Given the description of an element on the screen output the (x, y) to click on. 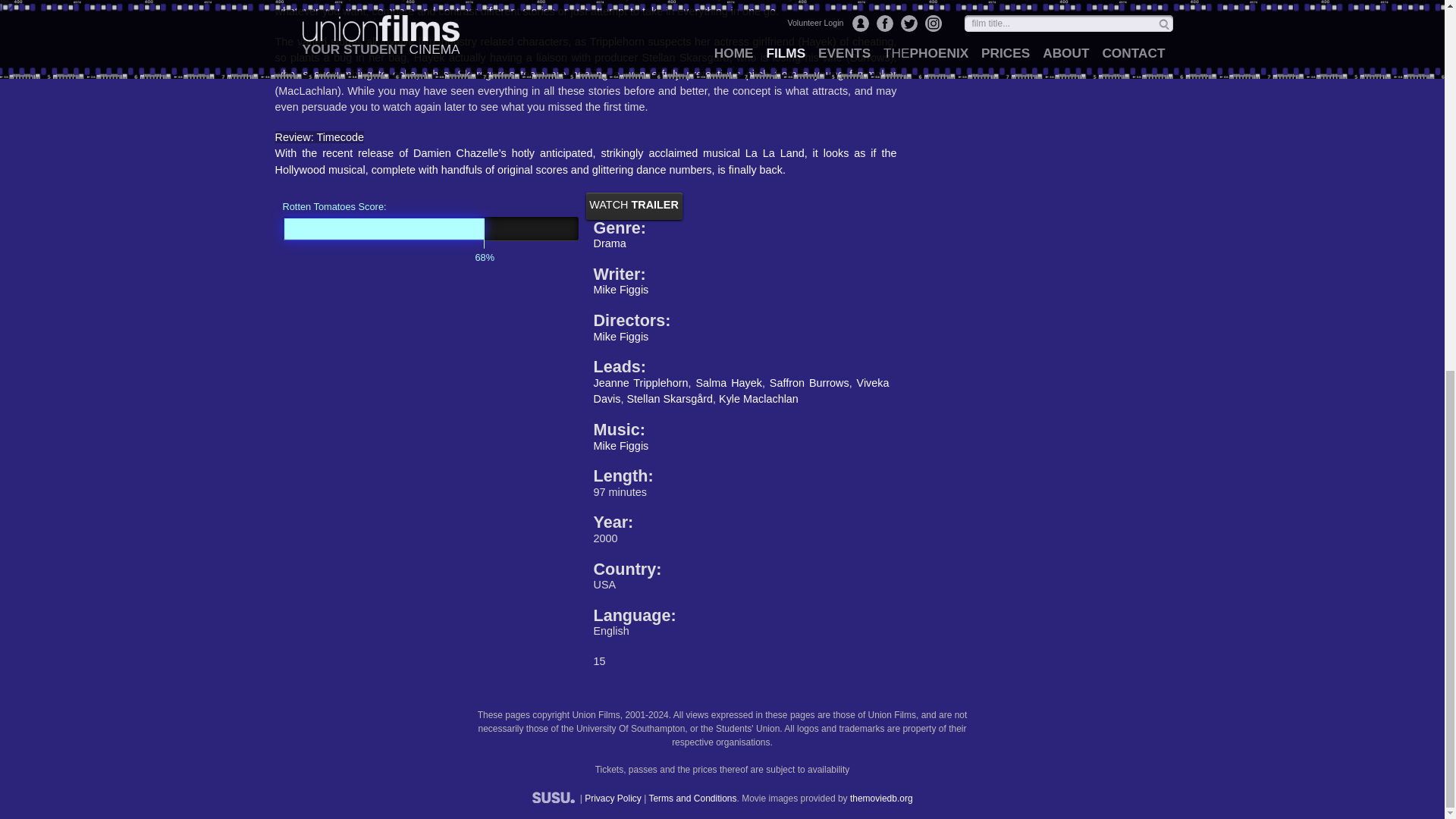
Salma Hayek (728, 382)
Viveka Davis (740, 390)
Rotten Tomatoes or IMDB Score (430, 228)
Terms and Conditions (691, 798)
Mike Figgis (619, 336)
Mike Figgis (619, 445)
Kyle Maclachlan (758, 398)
Jeanne Tripplehorn (639, 382)
WATCH TRAILER (633, 205)
Saffron Burrows (809, 382)
Privacy Policy (613, 798)
Mike Figgis (619, 289)
Visit the Students' Union website (553, 797)
Drama (609, 243)
themoviedb.org (881, 798)
